Given the description of an element on the screen output the (x, y) to click on. 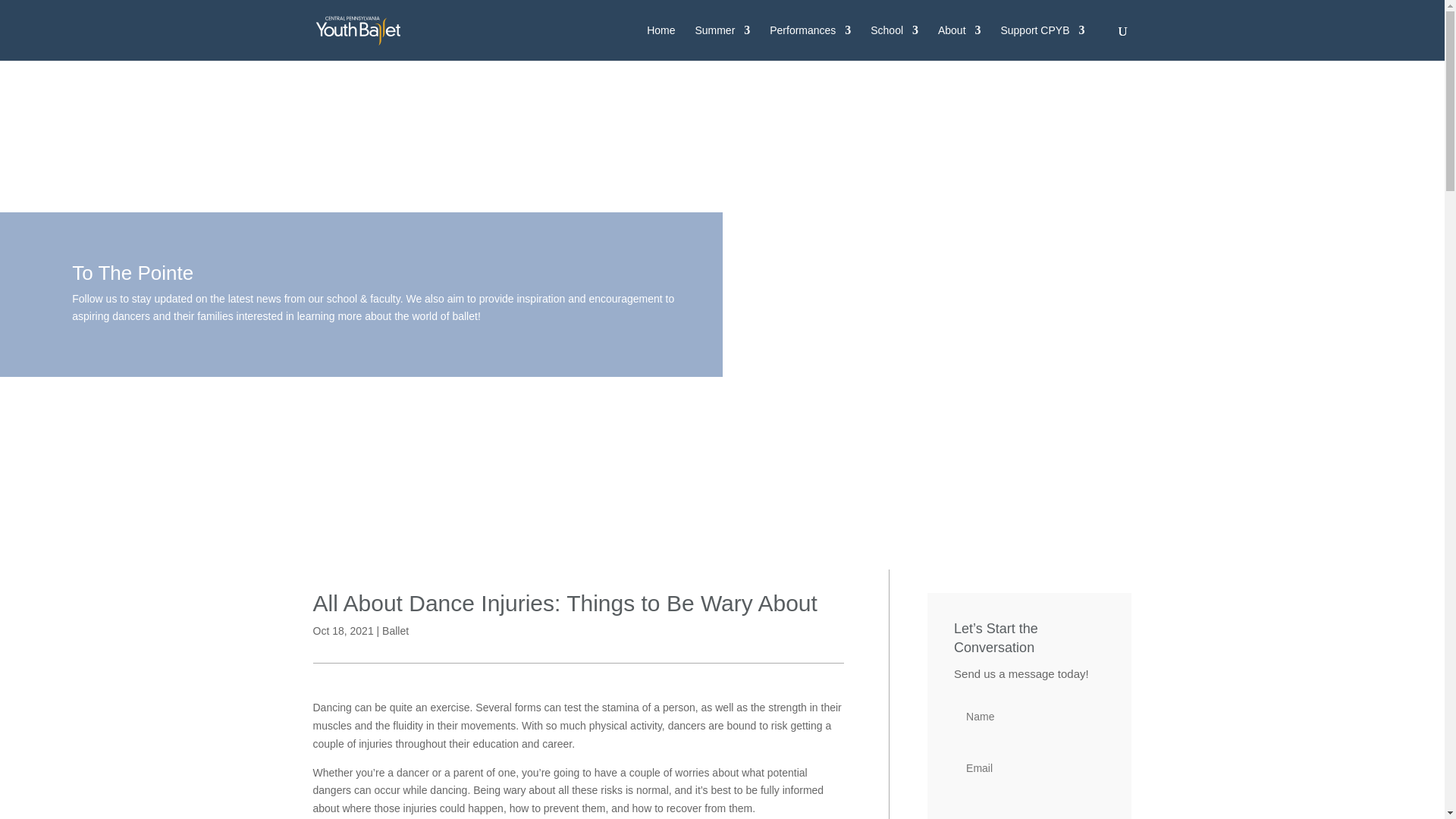
School (894, 42)
About (959, 42)
Performances (810, 42)
Summer (721, 42)
Support CPYB (1042, 42)
